Given the description of an element on the screen output the (x, y) to click on. 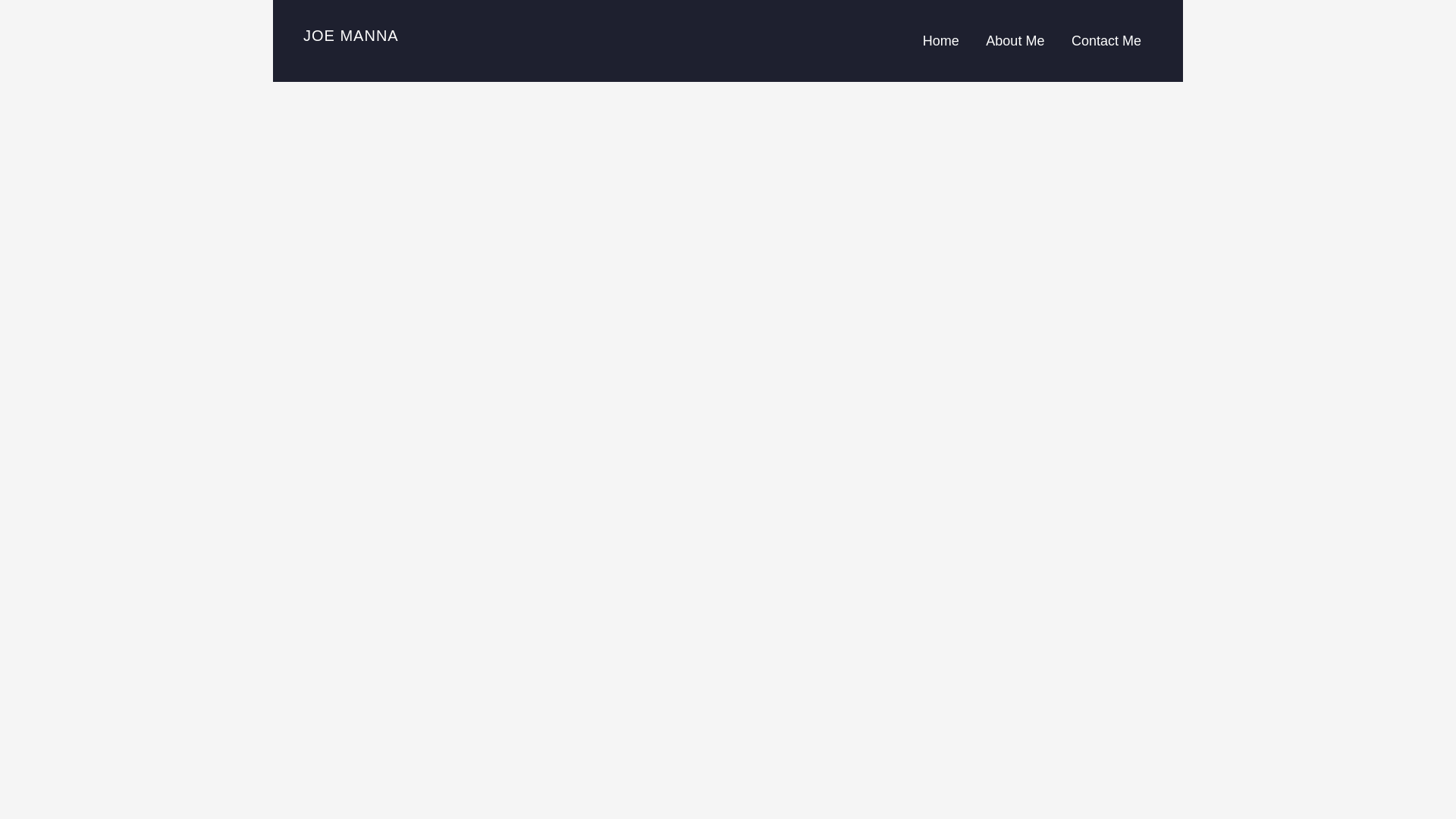
Contact Me (1106, 40)
Home (947, 40)
JOE MANNA (350, 35)
About Me (1014, 40)
